Given the description of an element on the screen output the (x, y) to click on. 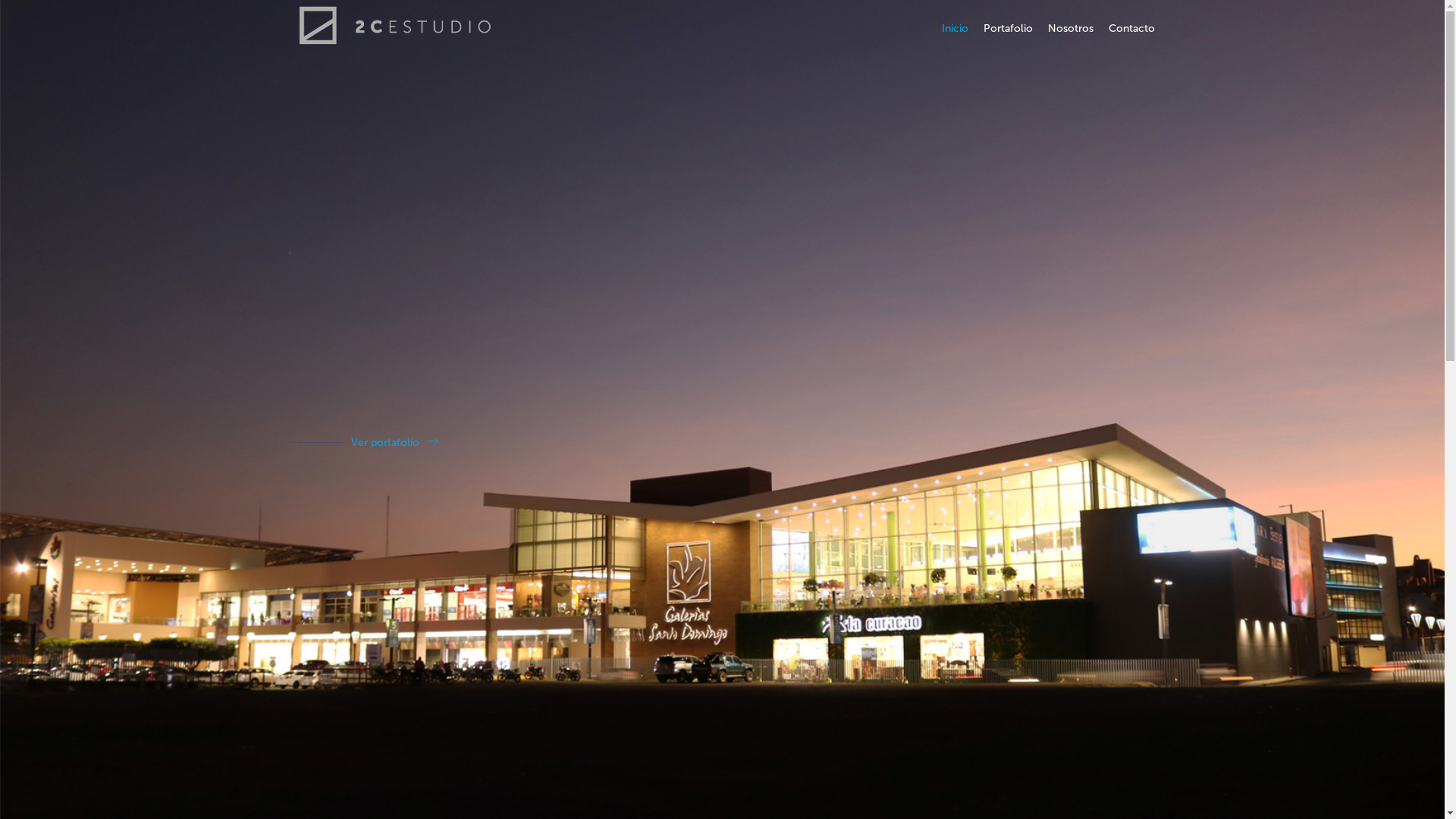
Portafolio Element type: text (1007, 28)
Inicio Element type: text (954, 28)
Nosotros Element type: text (1070, 28)
Ver portafolio Element type: text (393, 441)
Contacto Element type: text (1131, 28)
